Given the description of an element on the screen output the (x, y) to click on. 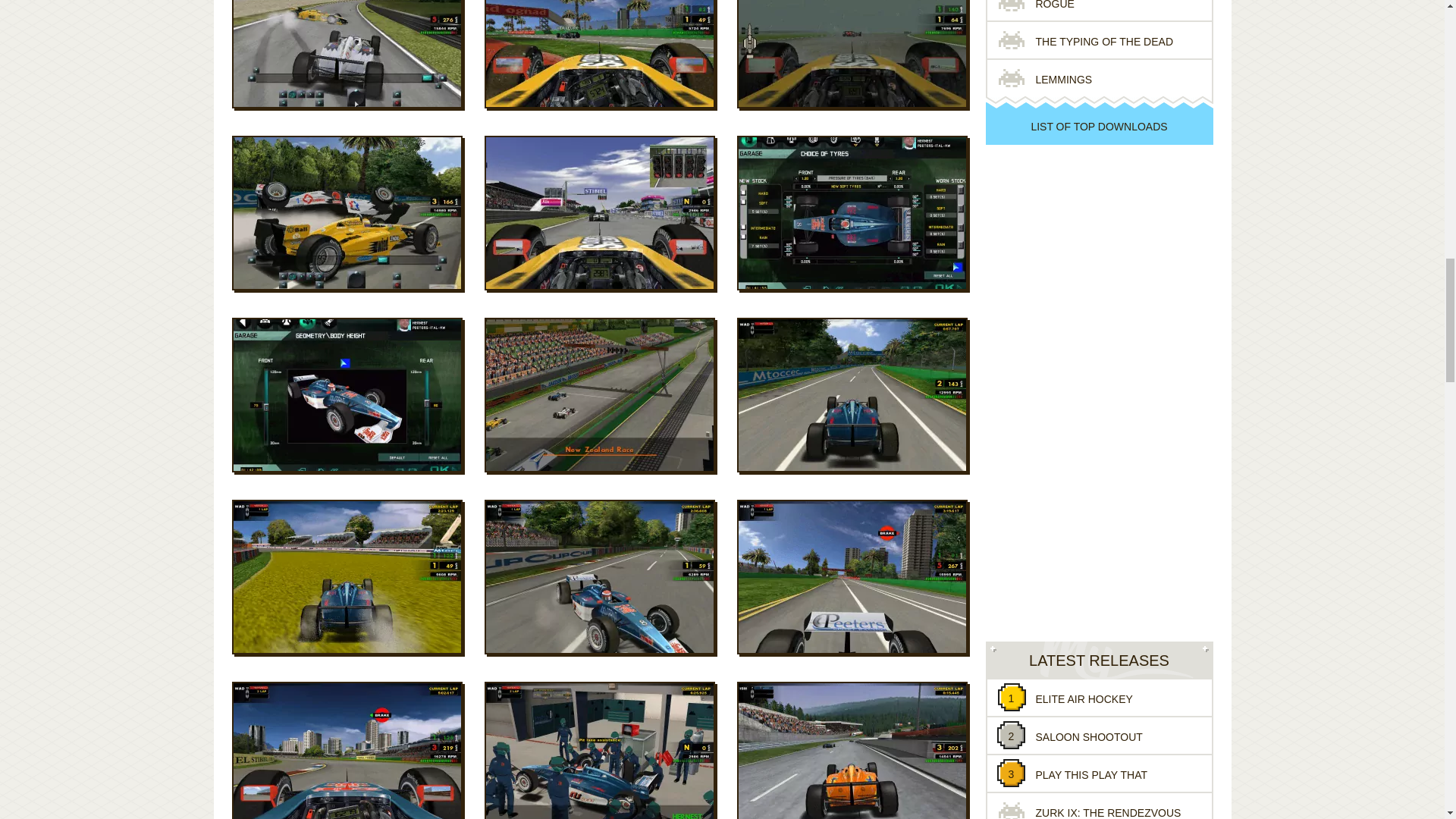
See the Top 40 Games (1098, 126)
